Given the description of an element on the screen output the (x, y) to click on. 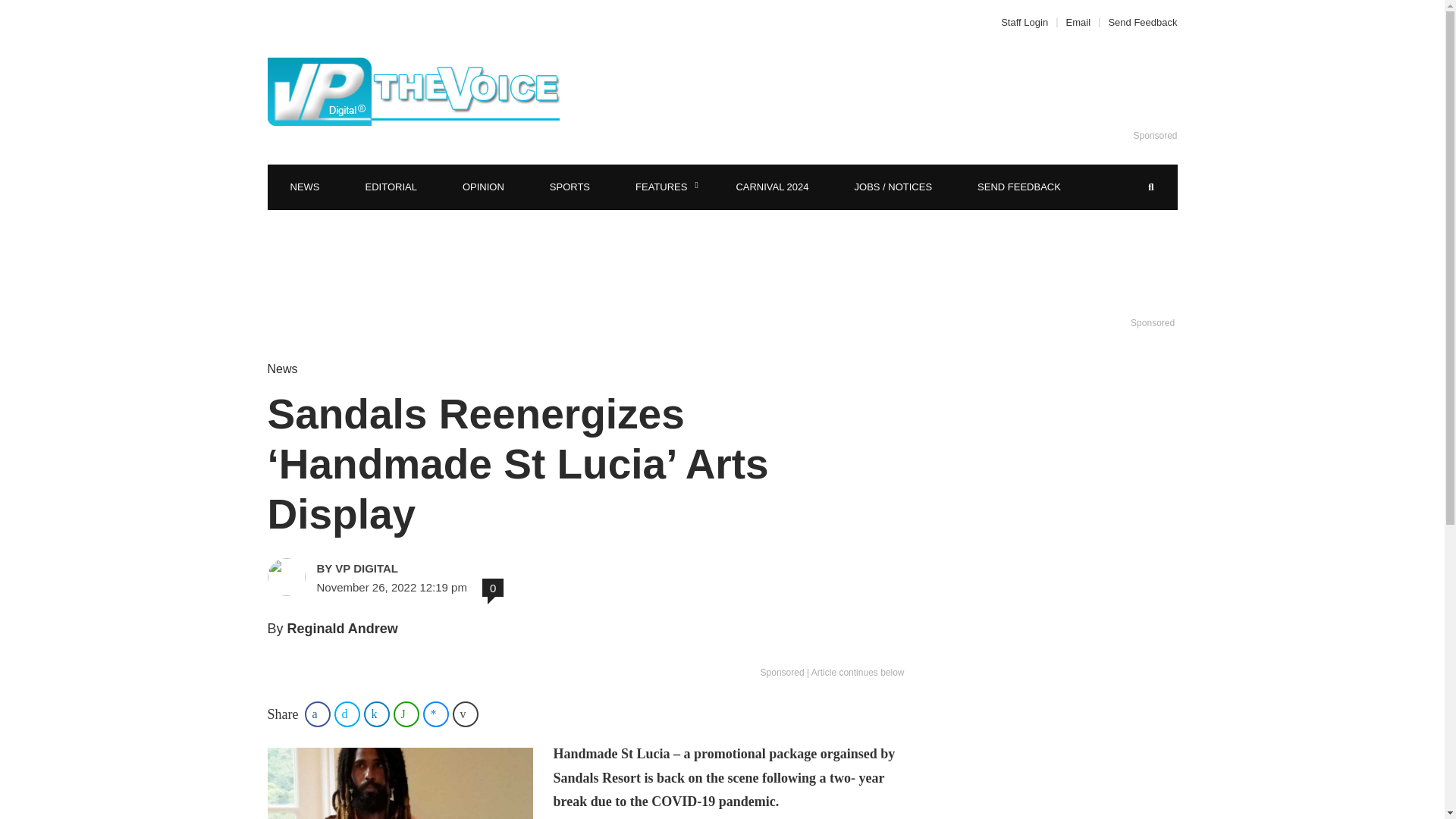
VP DIGITAL (422, 567)
Staff Login (1028, 21)
Send Feedback (1138, 21)
Email (1078, 21)
Share on Facebook (317, 714)
NEWS (304, 186)
Share on WhatsApp (406, 714)
CARNIVAL 2024 (772, 186)
View all posts by VP Digital (422, 567)
Share on Facebook Messenger (435, 714)
